Given the description of an element on the screen output the (x, y) to click on. 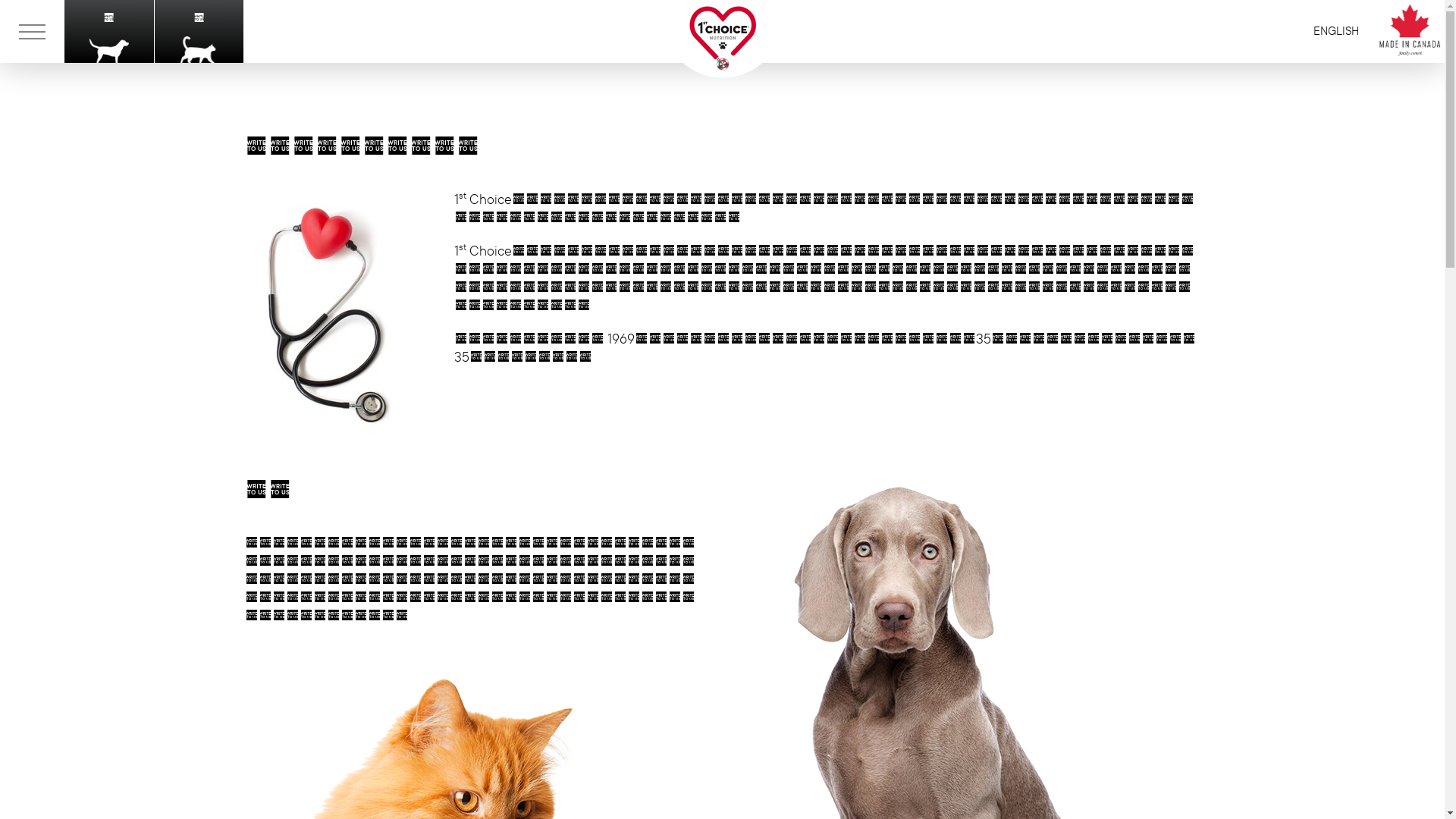
ENGLISH Element type: text (1335, 31)
